Given the description of an element on the screen output the (x, y) to click on. 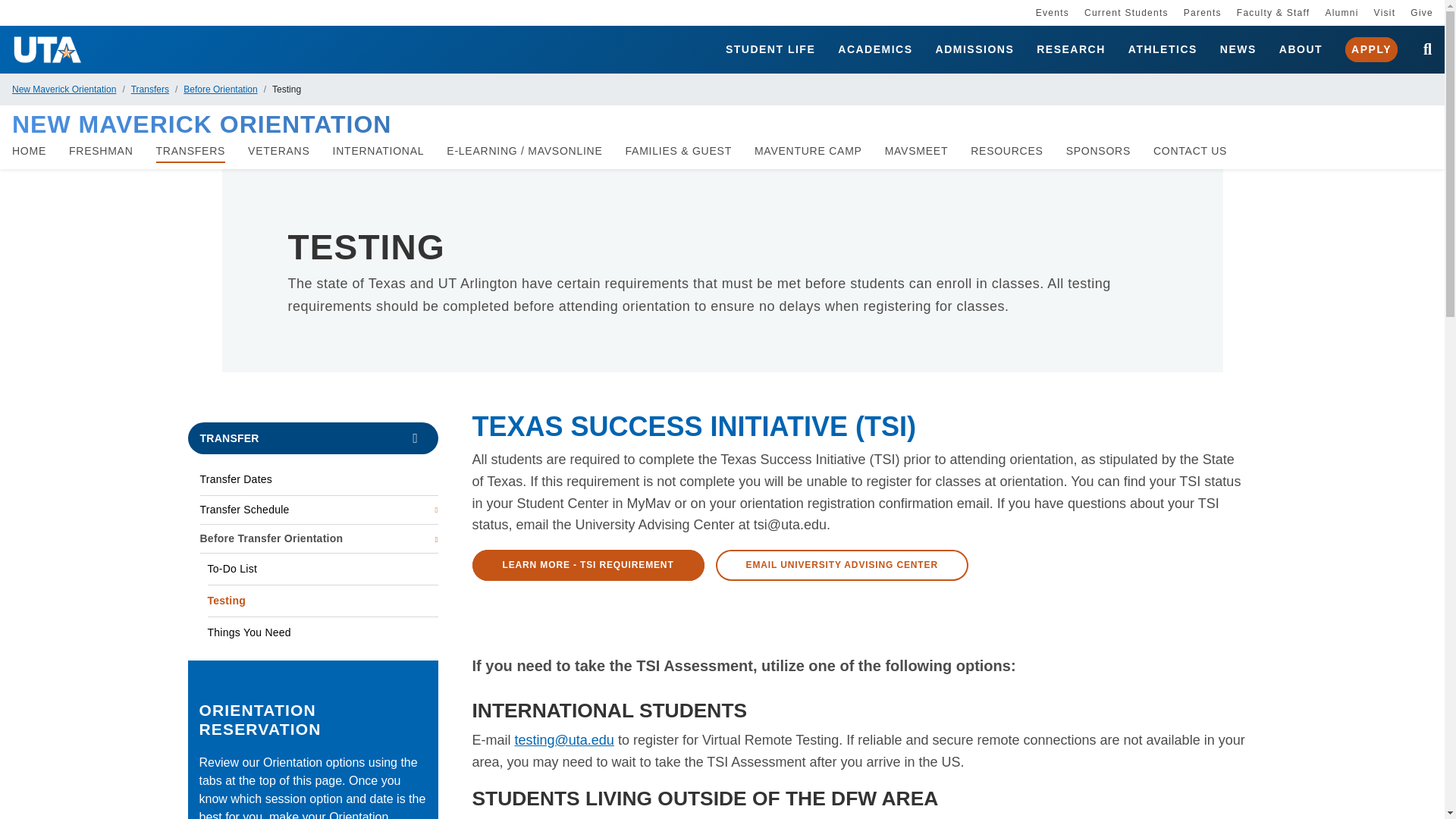
Events (1051, 12)
Current Students (1126, 12)
ACADEMICS (875, 49)
Alumni (1341, 12)
Parents (1202, 12)
STUDENT LIFE (770, 49)
Alumni (1341, 12)
Current Students (1126, 12)
Events (1051, 12)
